Given the description of an element on the screen output the (x, y) to click on. 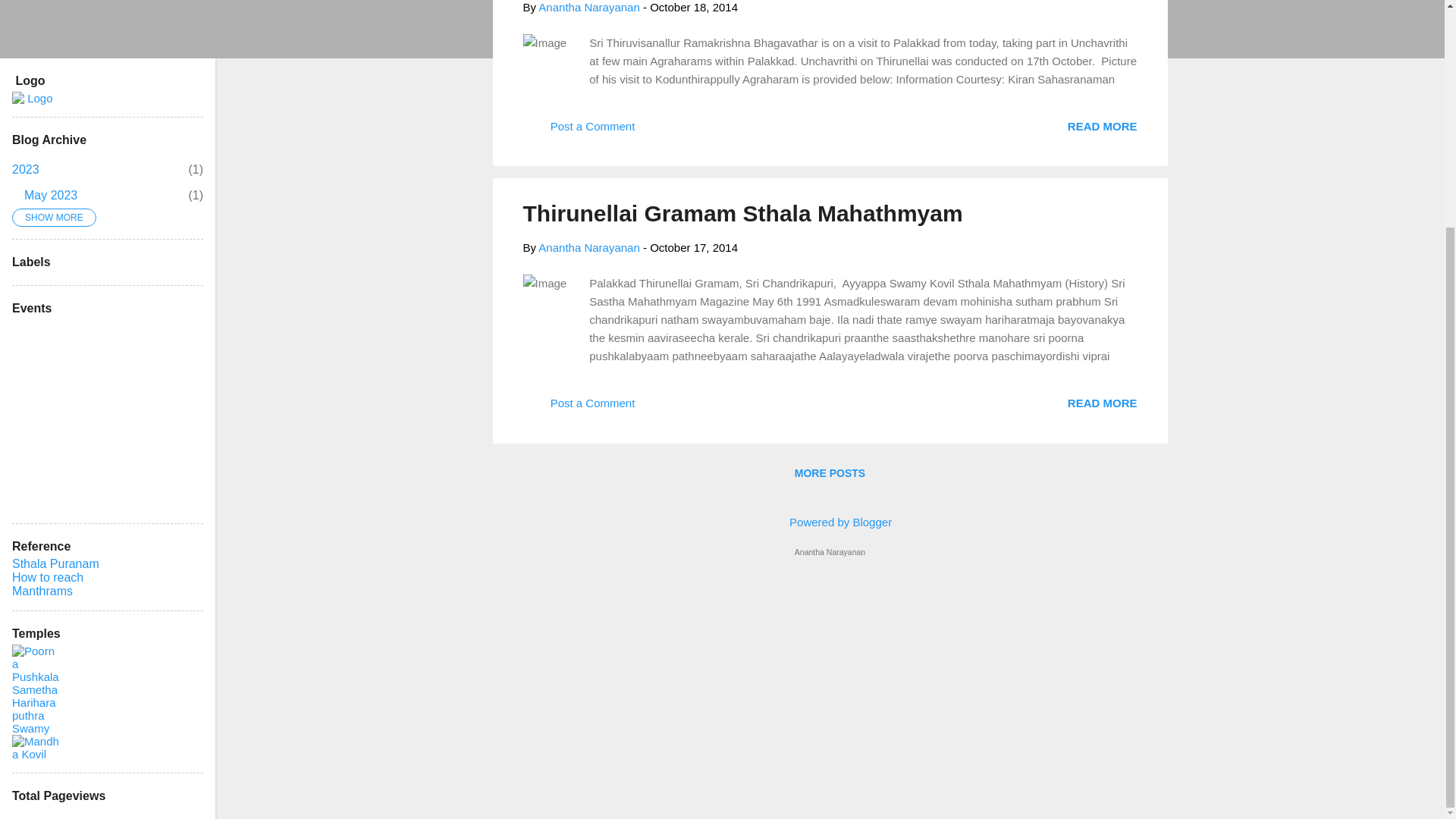
READ MORE (1102, 402)
Post a Comment (578, 131)
October 18, 2014 (693, 6)
MORE POSTS (25, 169)
Anantha Narayanan (829, 472)
Unchavrithi by Thiruvisanallur Ramakrishna Bhagavathar (588, 246)
Thirunellai Gramam Sthala Mahathmyam (1102, 124)
Powered by Blogger (742, 213)
author profile (829, 521)
READ MORE (588, 246)
Post a Comment (1102, 124)
author profile (578, 408)
October 17, 2014 (50, 195)
